Given the description of an element on the screen output the (x, y) to click on. 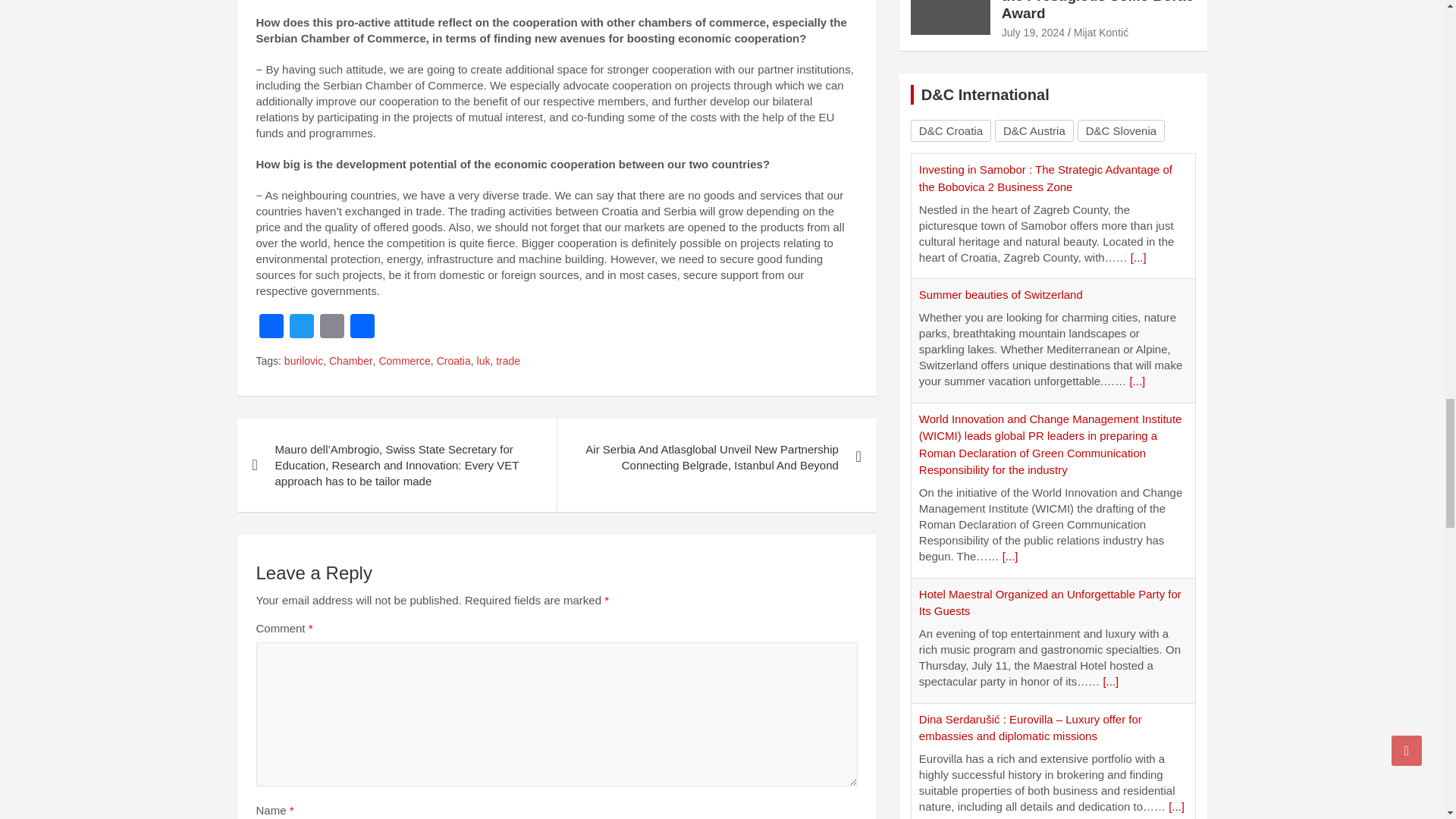
Read more (1139, 256)
Read more (1136, 380)
Twitter (301, 327)
Email (332, 327)
Summer beauties of Switzerland (1000, 294)
Facebook (271, 327)
Read more (1010, 555)
